Given the description of an element on the screen output the (x, y) to click on. 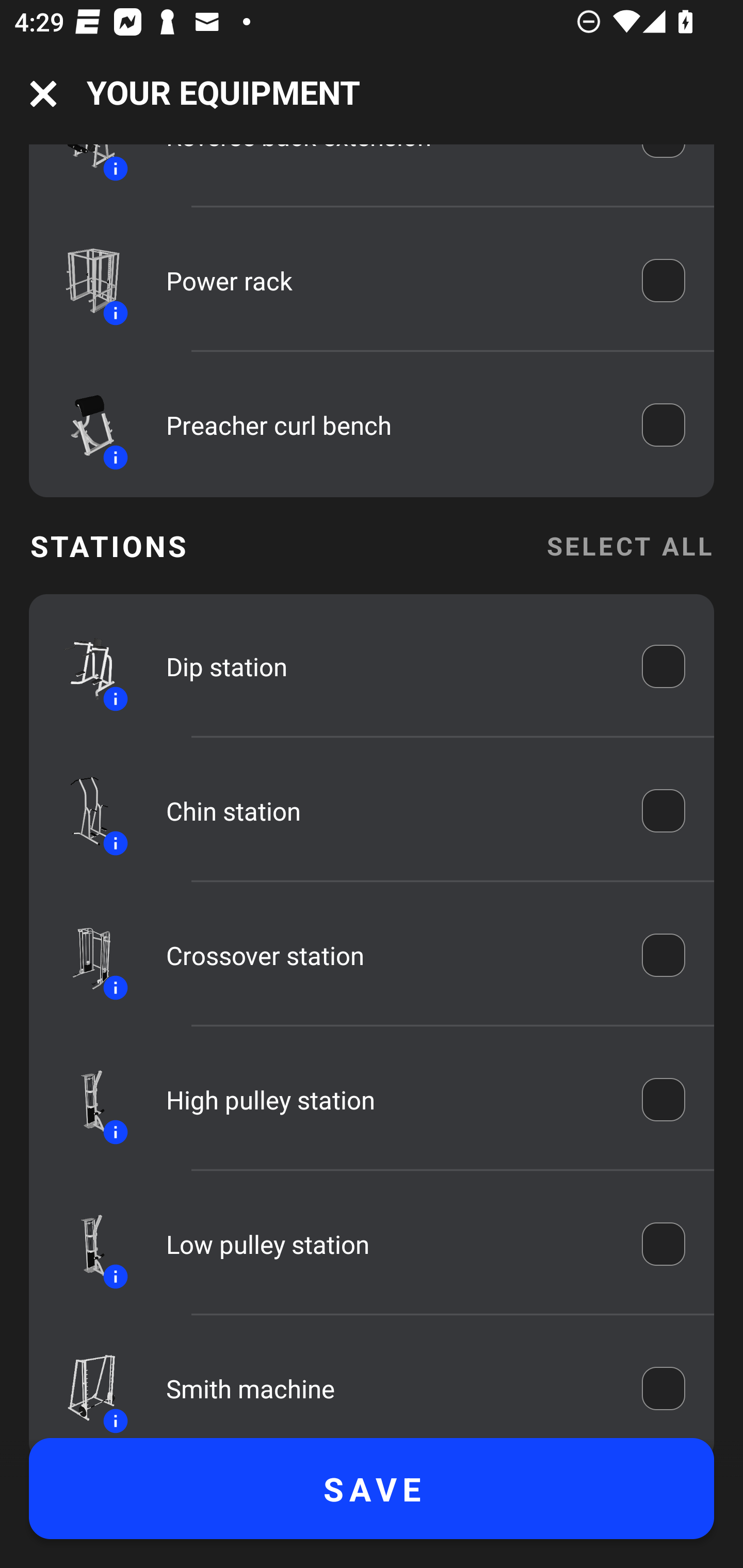
Navigation icon (43, 93)
Equipment icon Information icon (82, 279)
Power rack (389, 280)
Equipment icon Information icon (82, 425)
Preacher curl bench (389, 424)
SELECT ALL (629, 545)
Equipment icon Information icon (82, 666)
Dip station (389, 666)
Equipment icon Information icon (82, 811)
Chin station (389, 810)
Equipment icon Information icon (82, 955)
Crossover station (389, 955)
Equipment icon Information icon (82, 1099)
High pulley station (389, 1099)
Equipment icon Information icon (82, 1244)
Low pulley station (389, 1244)
Equipment icon Information icon (82, 1385)
Smith machine (389, 1388)
SAVE (371, 1488)
